Given the description of an element on the screen output the (x, y) to click on. 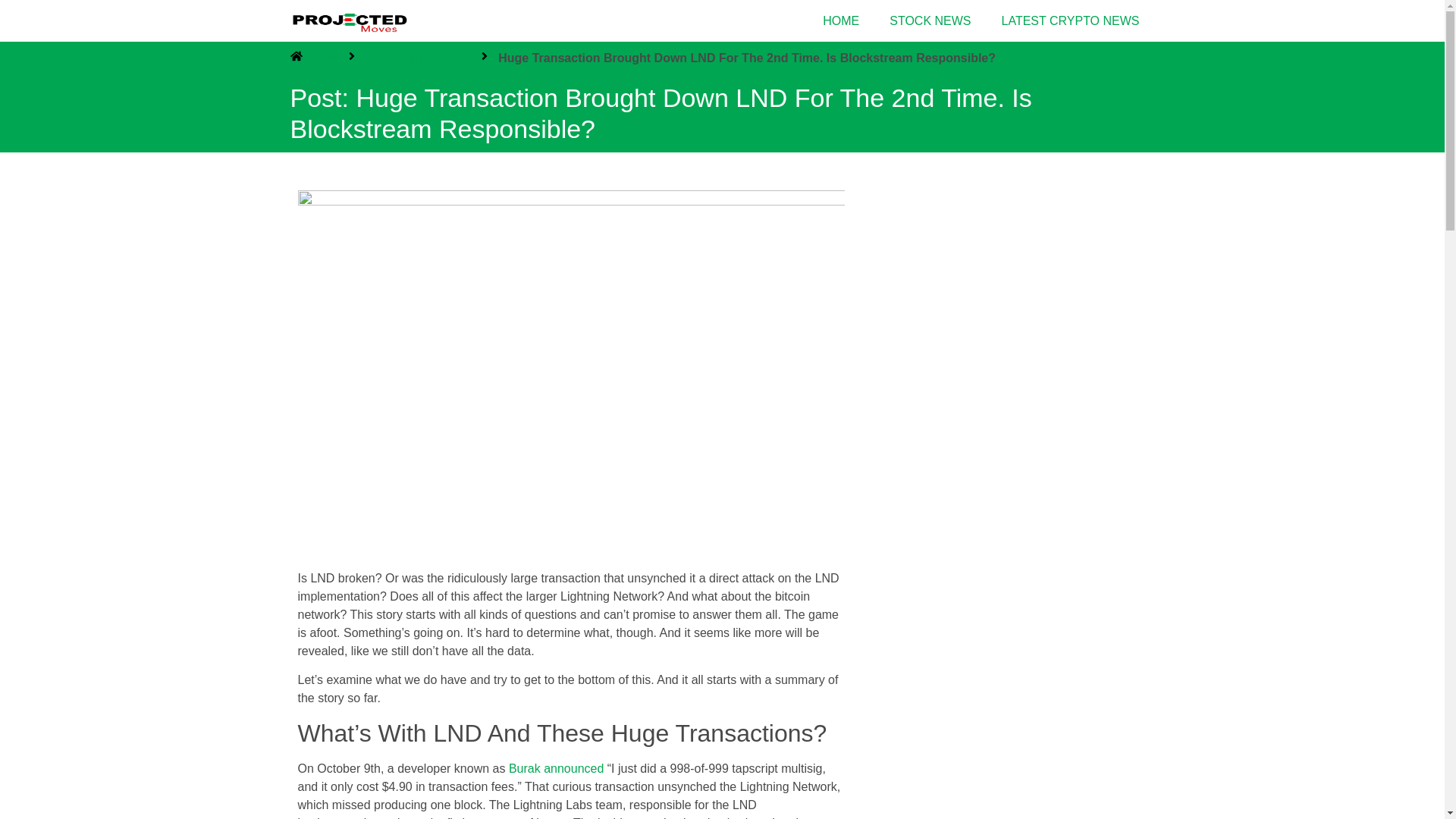
Latest Crypto News (418, 58)
LATEST CRYPTO NEWS (1070, 20)
STOCK NEWS (930, 20)
Home (313, 58)
Burak announced (556, 768)
HOME (841, 20)
Home (313, 58)
